Given the description of an element on the screen output the (x, y) to click on. 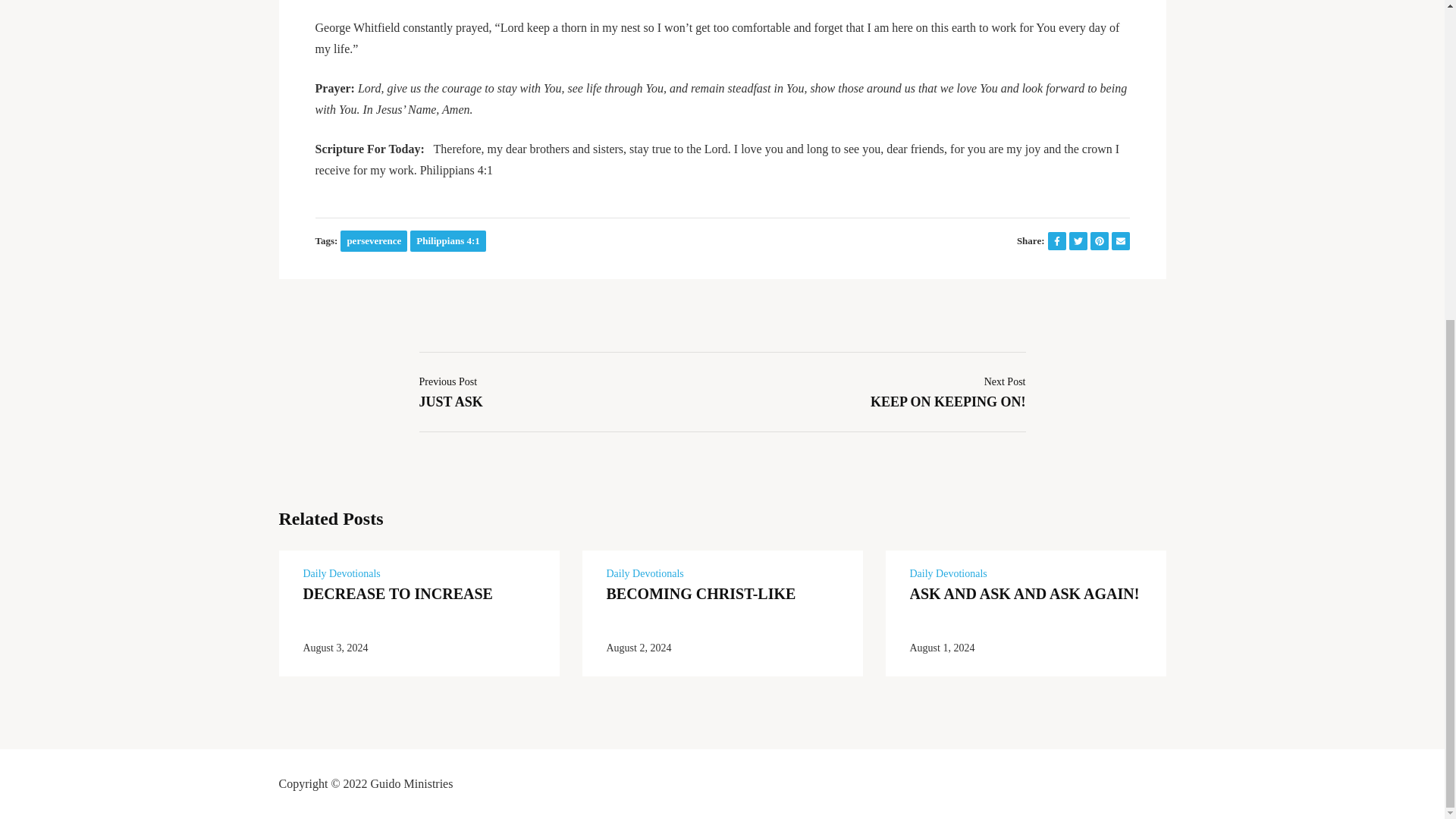
August 3, 2024 (335, 647)
Daily Devotionals (948, 573)
DECREASE TO INCREASE (450, 390)
perseverence (397, 592)
Daily Devotionals (373, 240)
Daily Devotionals (948, 390)
BECOMING CHRIST-LIKE (341, 573)
August 2, 2024 (645, 573)
Philippians 4:1 (701, 592)
